Given the description of an element on the screen output the (x, y) to click on. 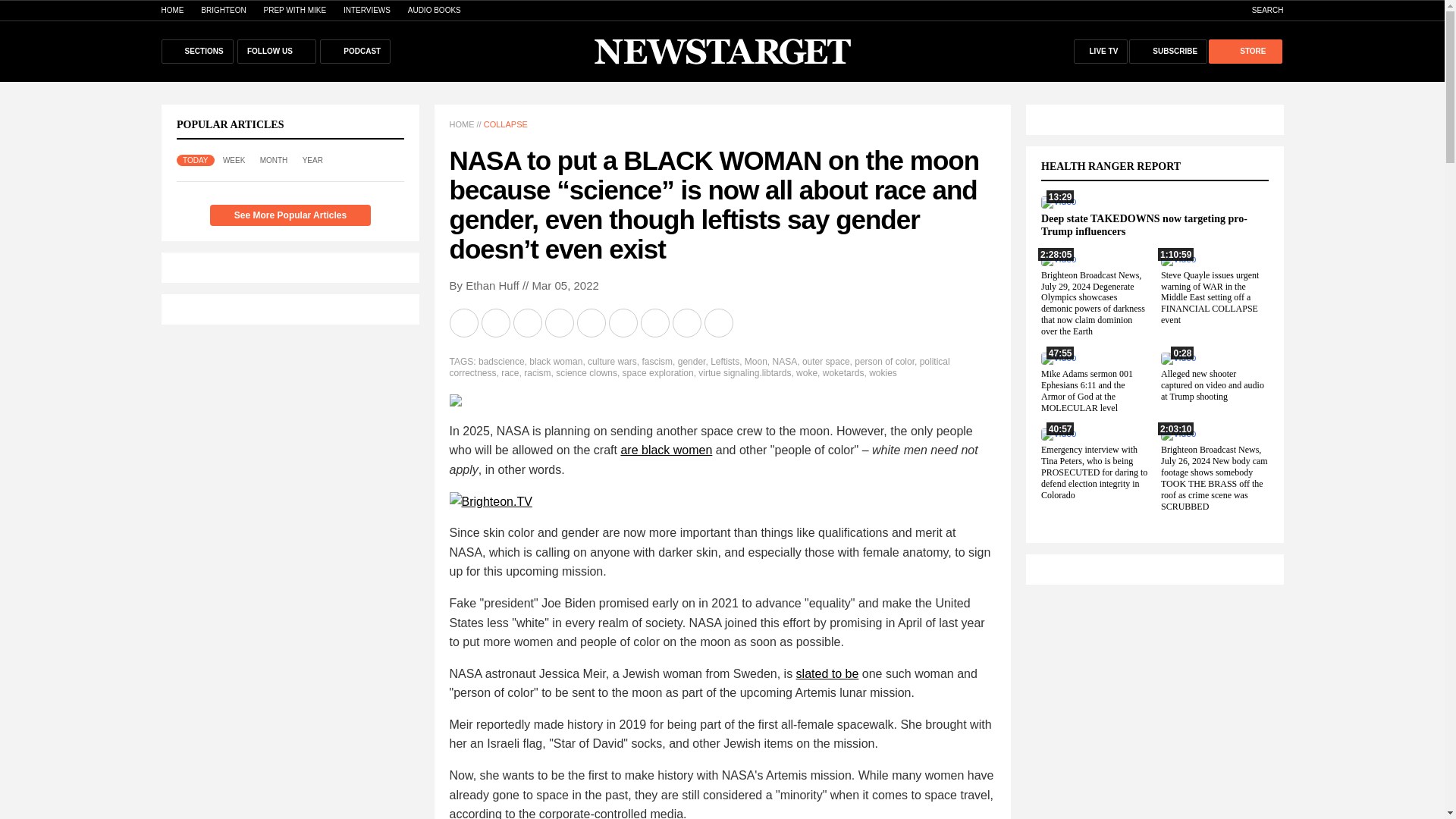
HEALTH RANGER REPORT (1119, 165)
BRIGHTEON (223, 9)
LIVE TV (1101, 51)
2:28:05 (1058, 258)
Share on Truth.Social (655, 322)
INTERVIEWS (366, 9)
1:10:59 (1177, 258)
More Share Options (719, 322)
STORE (1244, 51)
AUDIO BOOKS (434, 9)
Share on Facebook (496, 322)
Share on Telegram (560, 322)
badscience (501, 361)
Share on Gettr (687, 322)
